Given the description of an element on the screen output the (x, y) to click on. 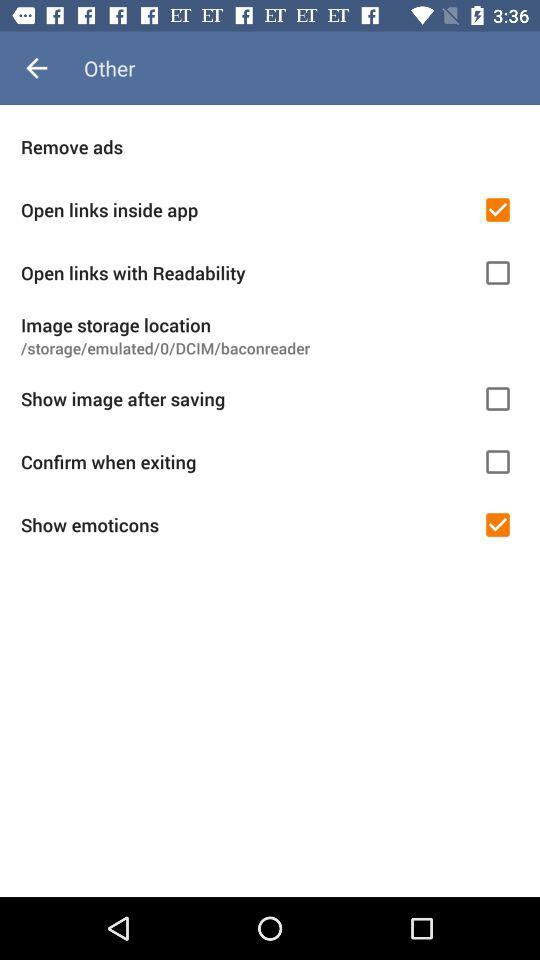
open the item above the storage emulated 0 item (270, 324)
